Given the description of an element on the screen output the (x, y) to click on. 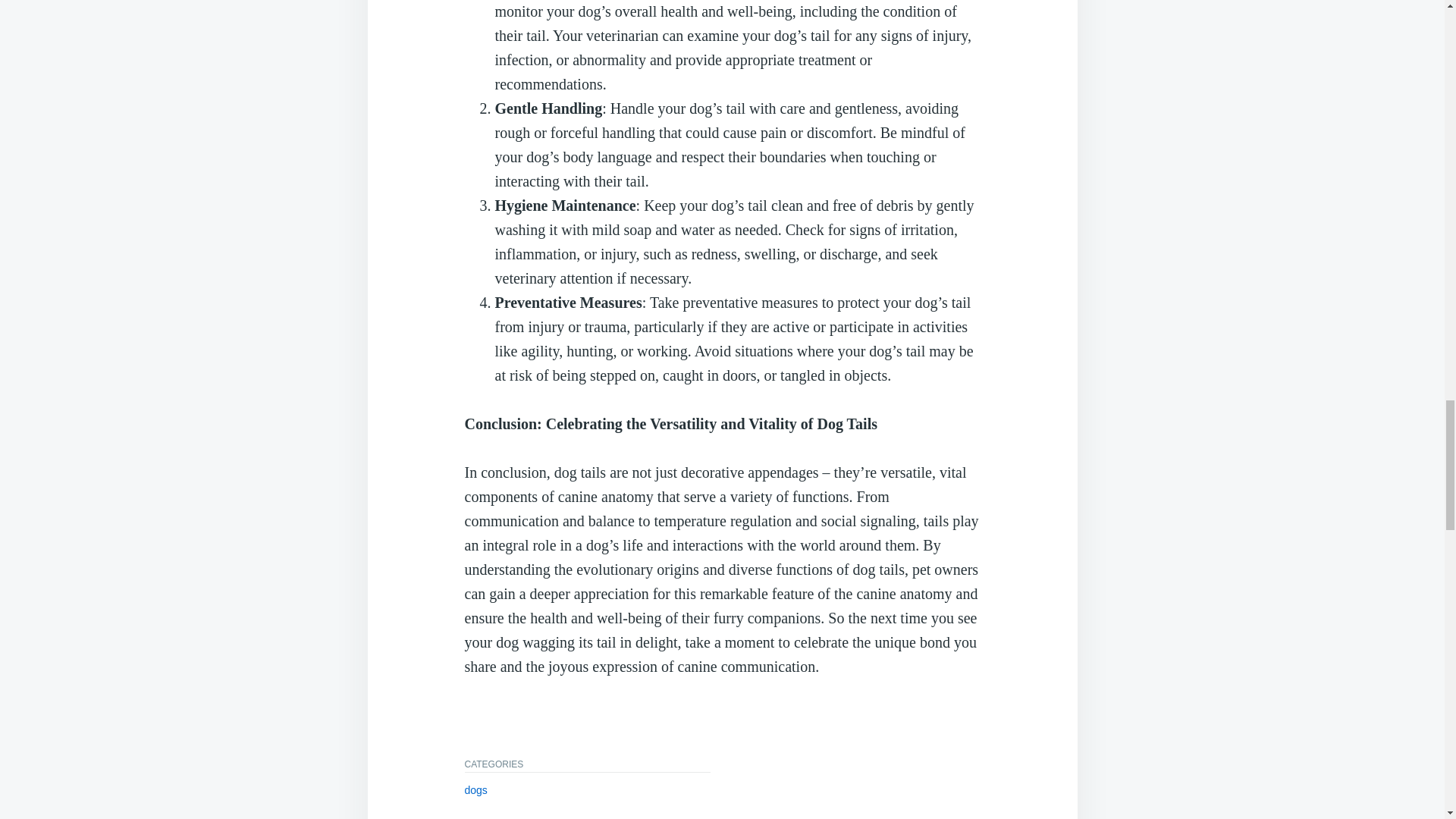
dogs (475, 789)
